Given the description of an element on the screen output the (x, y) to click on. 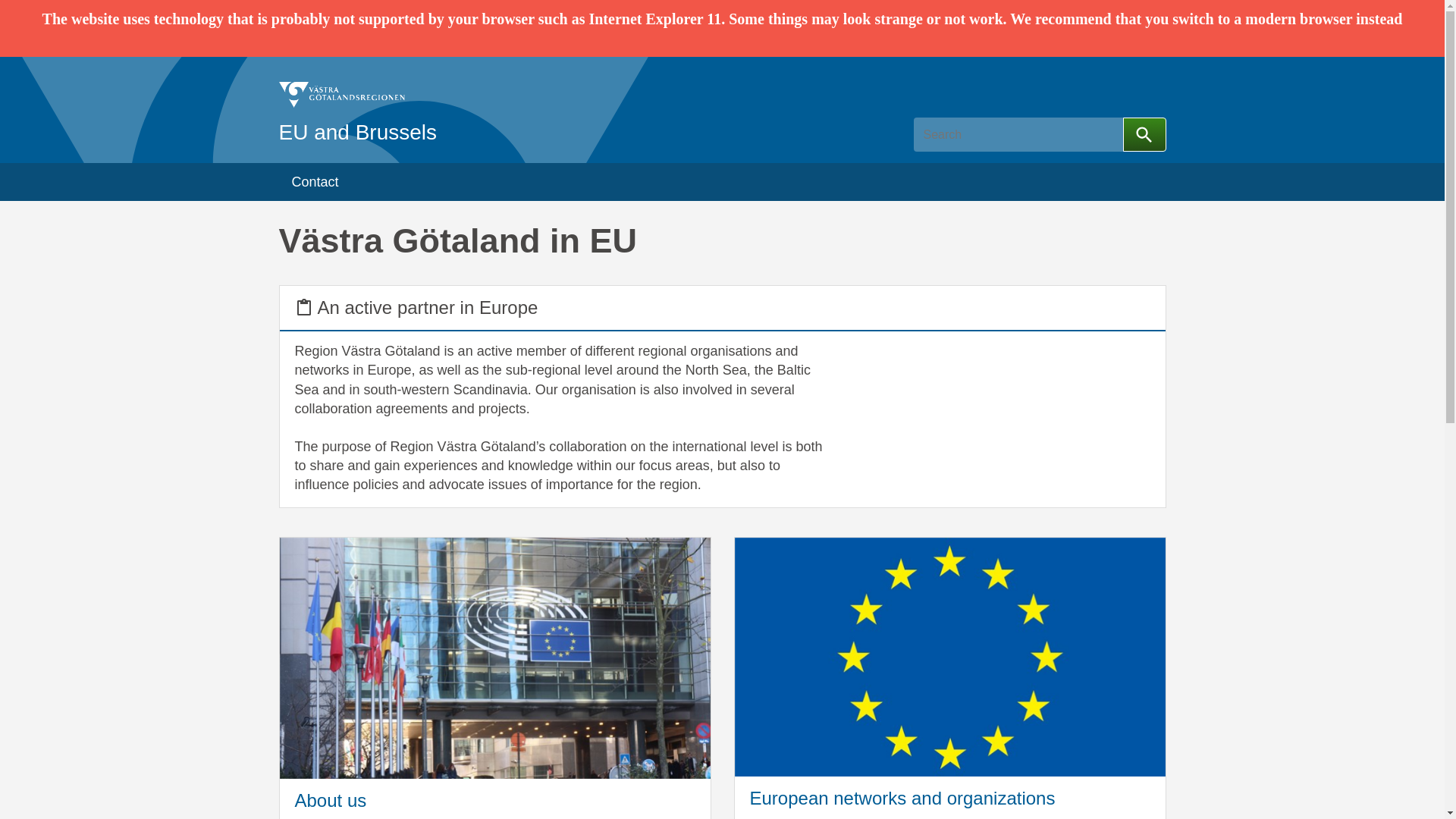
Search (1144, 134)
Contact (315, 181)
About us (494, 798)
EU and Brussels (358, 110)
European networks and organizations (948, 797)
